Given the description of an element on the screen output the (x, y) to click on. 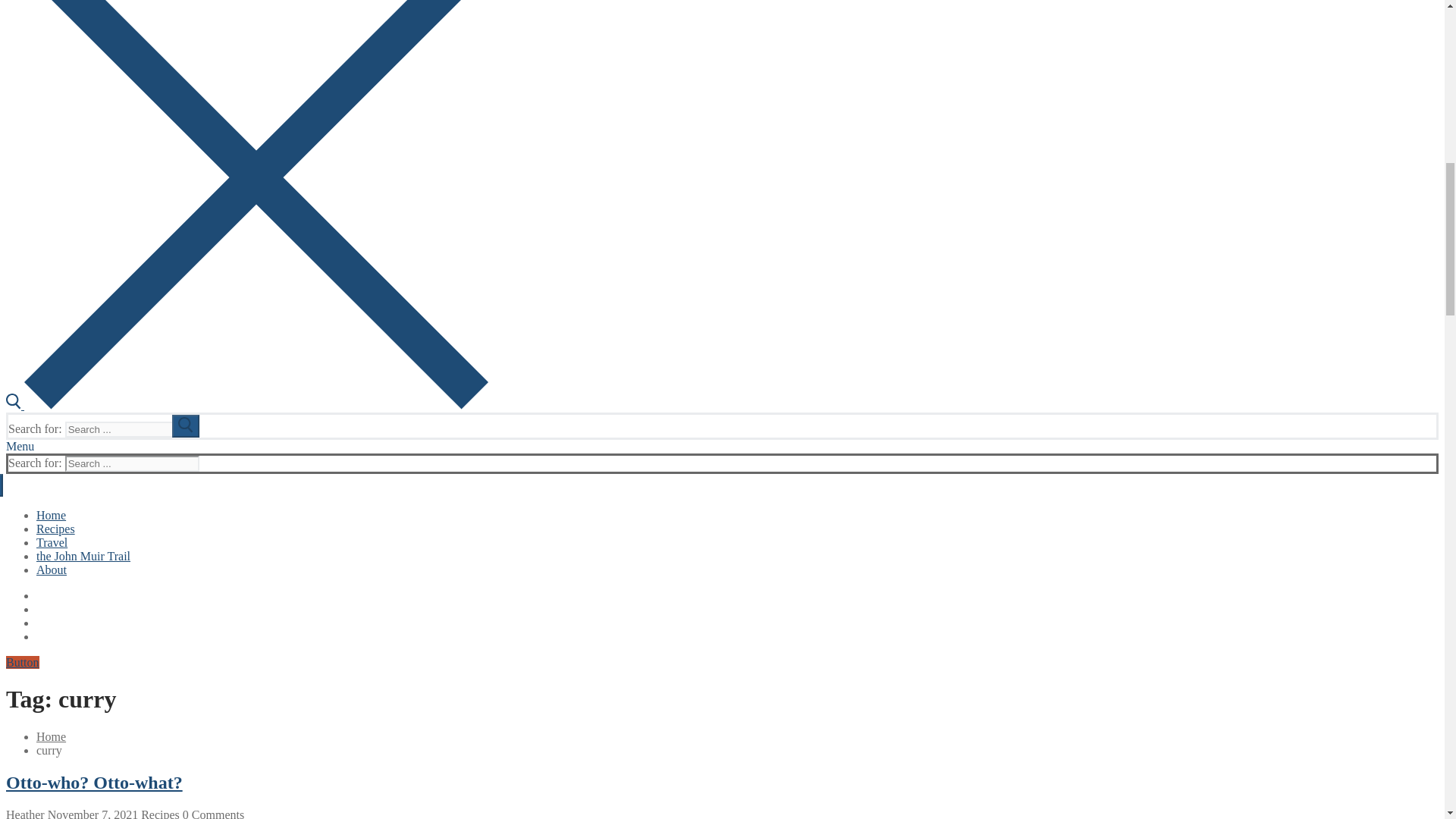
Search for: (132, 463)
Menu (19, 445)
Home (50, 514)
Recipes (158, 813)
0 Comments (211, 813)
Travel (51, 542)
Home (50, 736)
the John Muir Trail (83, 555)
Heather (25, 813)
November 7, 2021 (91, 813)
Button (22, 662)
Otto-who? Otto-what? (94, 782)
Search for: (132, 429)
About (51, 569)
Recipes (55, 528)
